Given the description of an element on the screen output the (x, y) to click on. 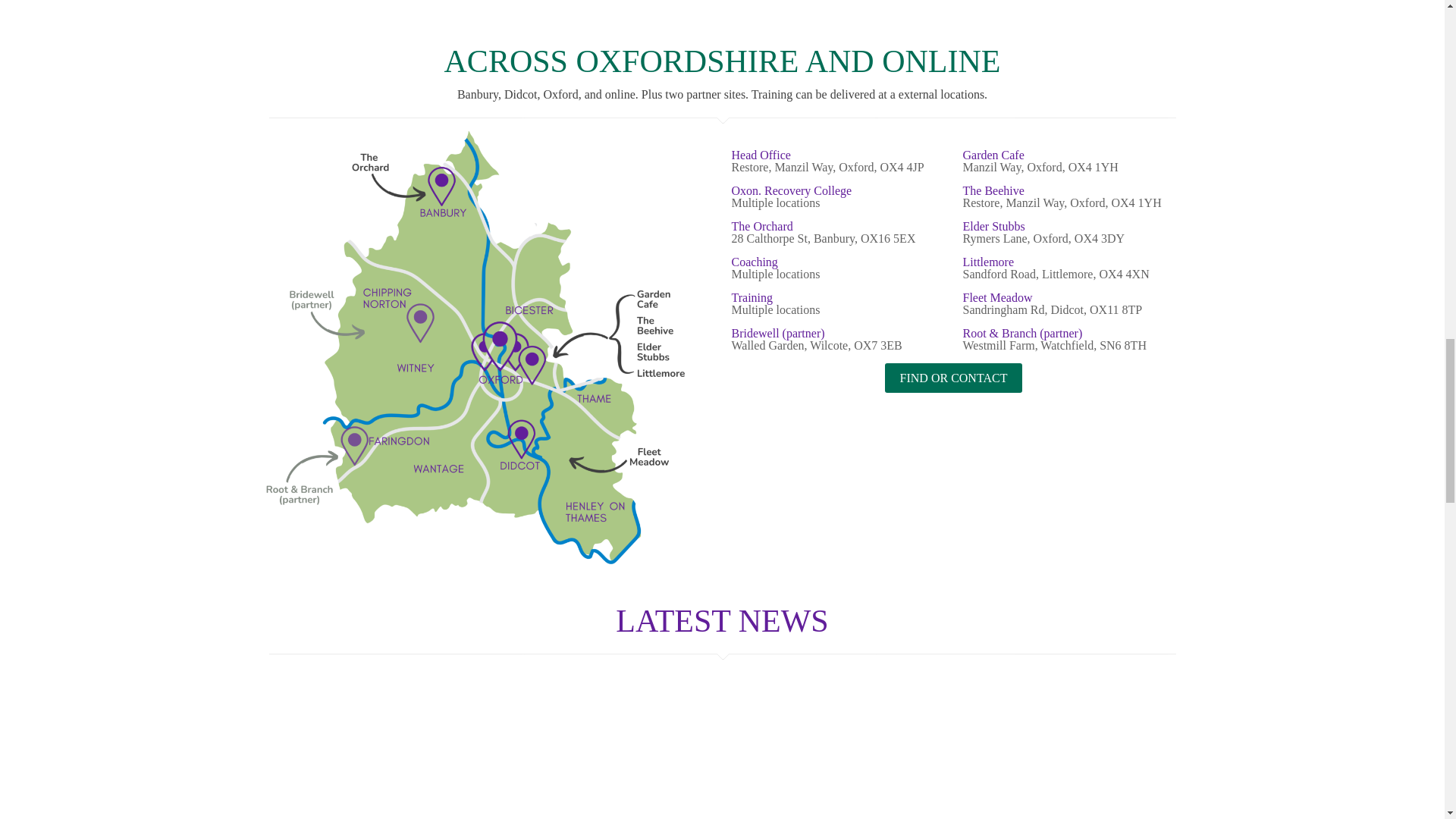
FIND OR CONTACT (954, 378)
